Given the description of an element on the screen output the (x, y) to click on. 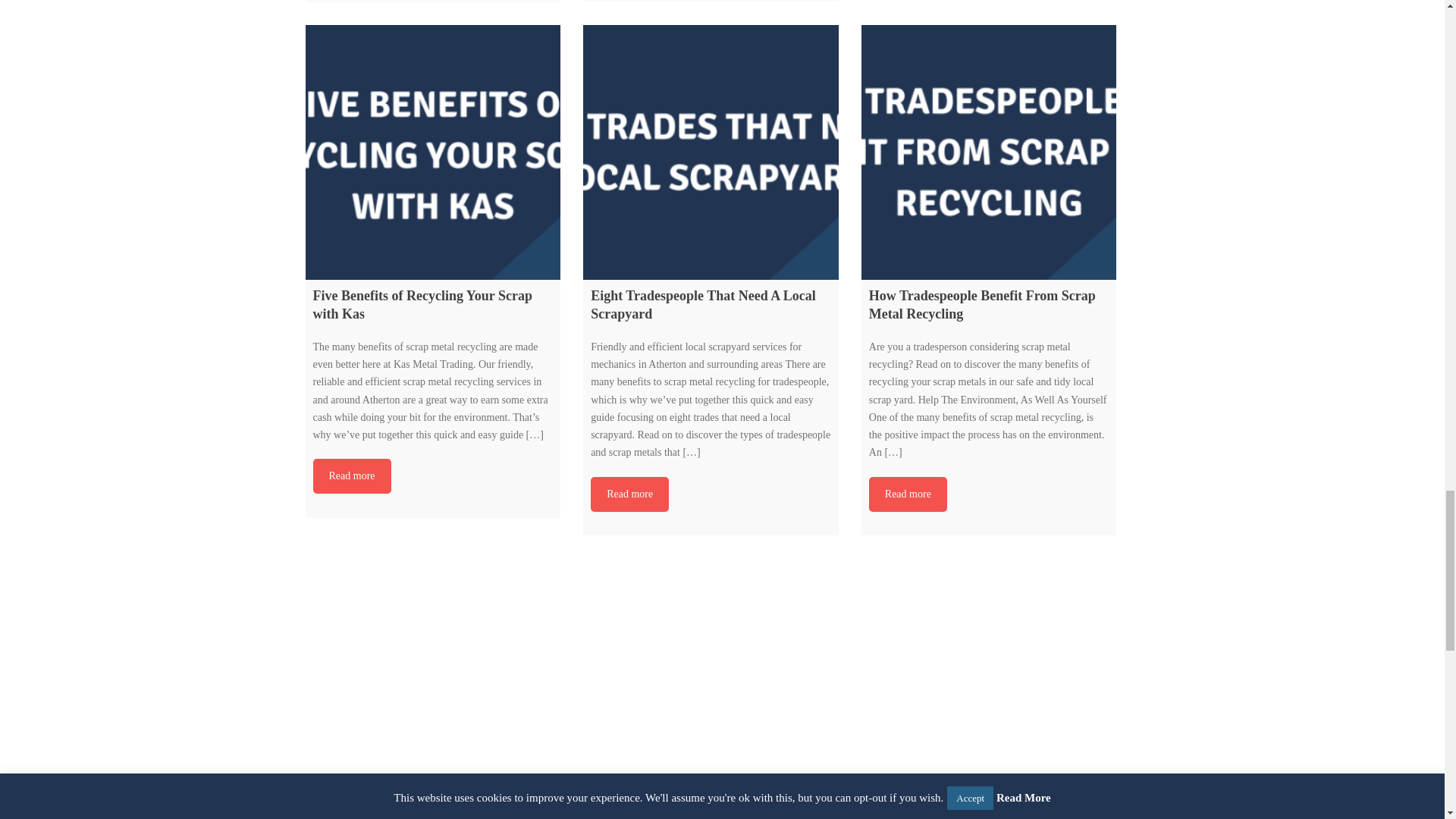
Read more (629, 493)
Eight Tradespeople That Need A Local Scrapyard (710, 152)
Read more (629, 493)
Five Benefits of Recycling Your Scrap with Kas (432, 152)
Read more (908, 493)
Read more (351, 475)
Read more (351, 475)
How Tradespeople Benefit From Scrap Metal Recycling (988, 152)
